Given the description of an element on the screen output the (x, y) to click on. 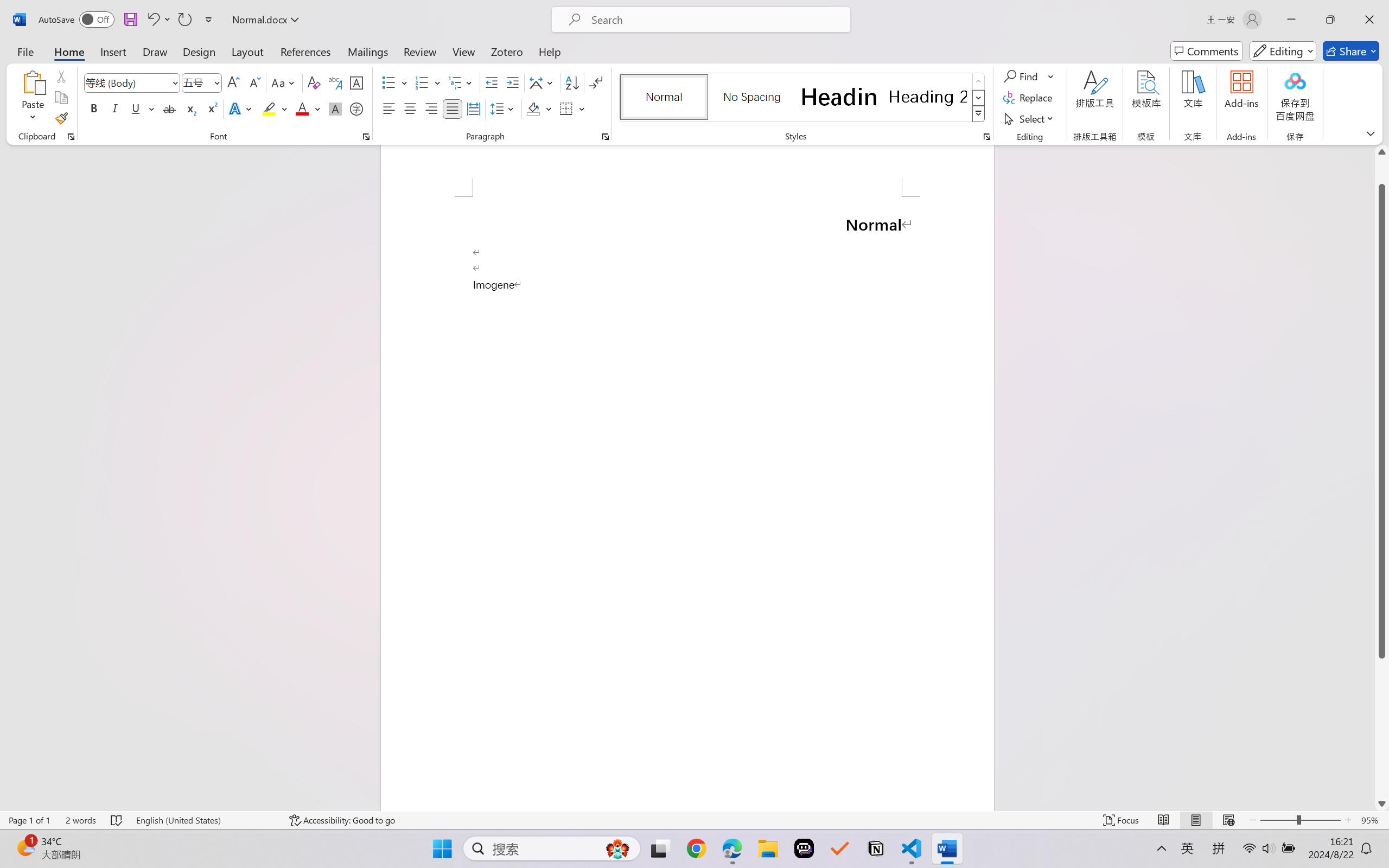
Zoom 390% (1364, 837)
